Given the description of an element on the screen output the (x, y) to click on. 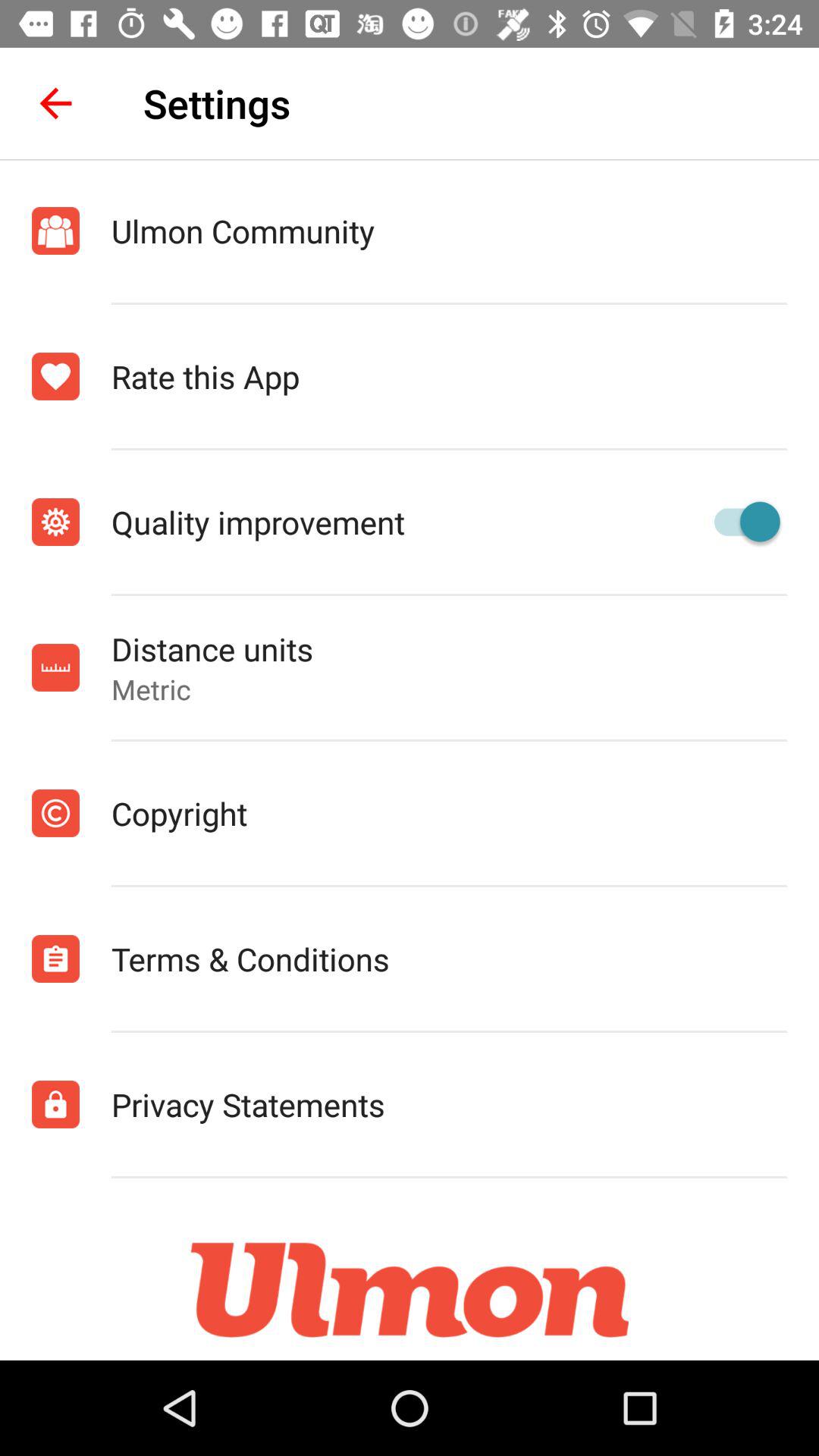
turn on button (739, 521)
